Given the description of an element on the screen output the (x, y) to click on. 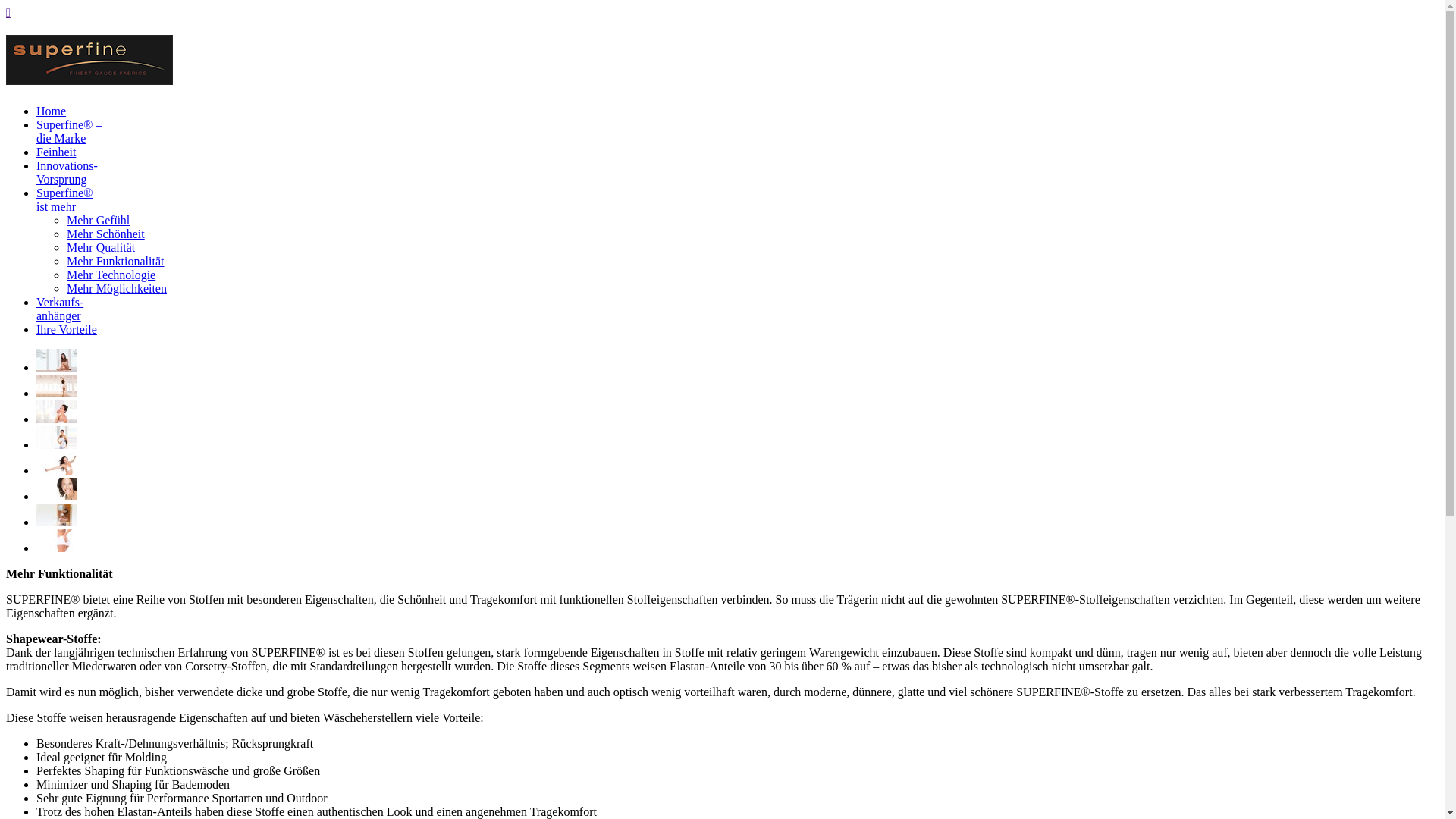
Feinheit Element type: text (55, 151)
Superfine Element type: hover (89, 78)
Ihre Vorteile Element type: text (66, 329)
Innovations-
Vorsprung Element type: text (66, 172)
Home Element type: text (50, 110)
Mehr Technologie Element type: text (110, 274)
